Given the description of an element on the screen output the (x, y) to click on. 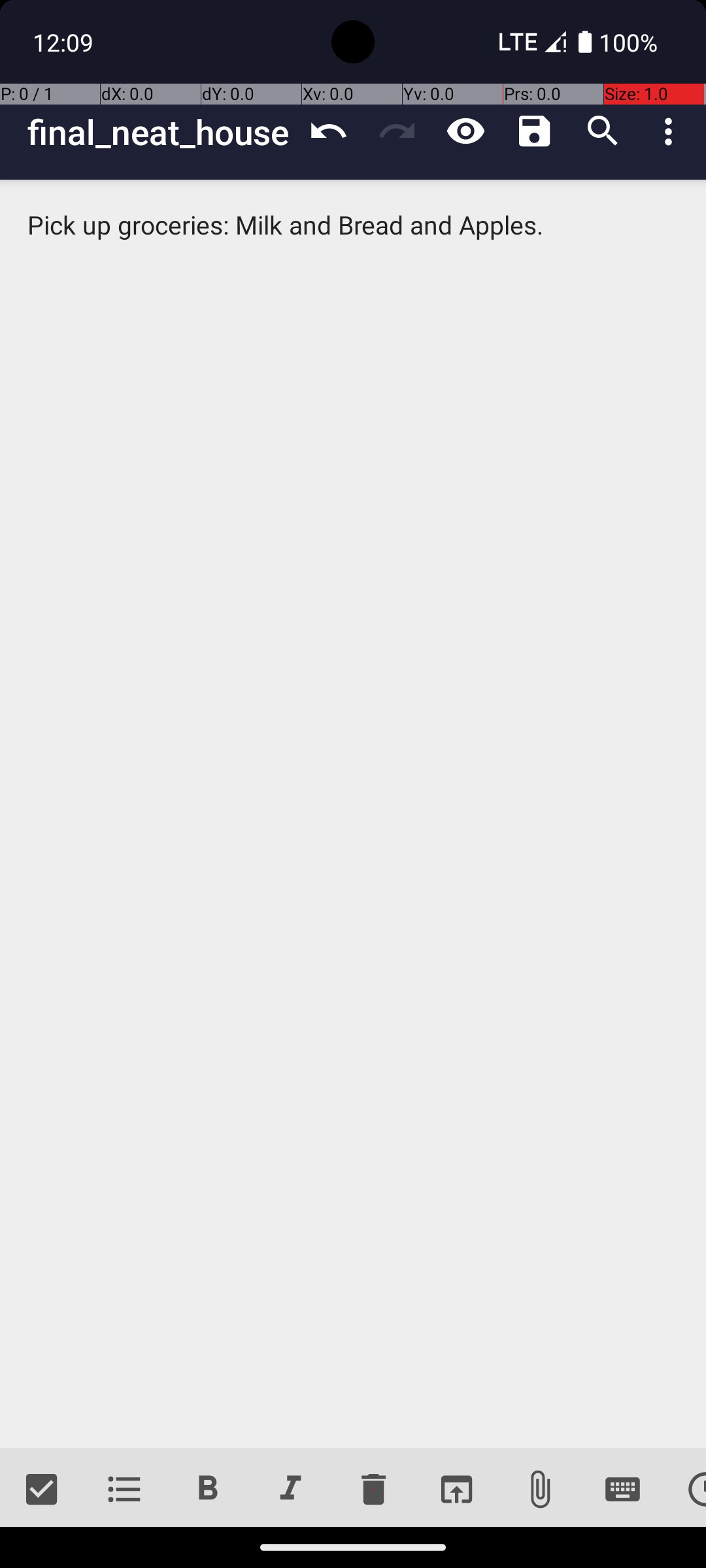
final_neat_house Element type: android.widget.TextView (160, 131)
Pick up groceries: Milk and Bread and Apples. Element type: android.widget.EditText (353, 813)
12:09 Element type: android.widget.TextView (64, 41)
